Given the description of an element on the screen output the (x, y) to click on. 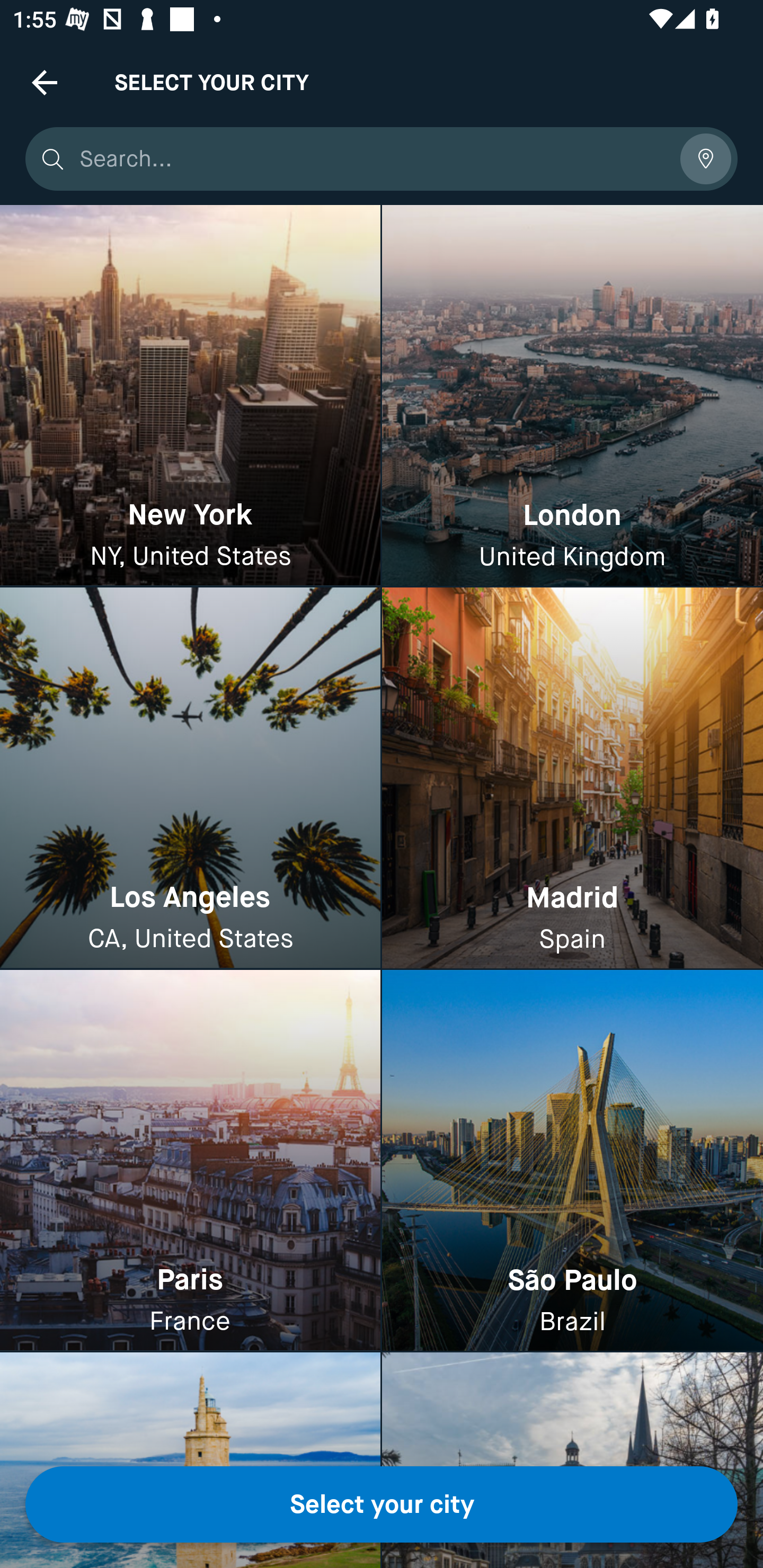
Navigate up (44, 82)
Search... (373, 159)
New York NY, United States (190, 395)
London United Kingdom (572, 395)
Los Angeles CA, United States (190, 778)
Madrid Spain (572, 778)
Paris France (190, 1160)
São Paulo Brazil (572, 1160)
Select your city (381, 1504)
